Given the description of an element on the screen output the (x, y) to click on. 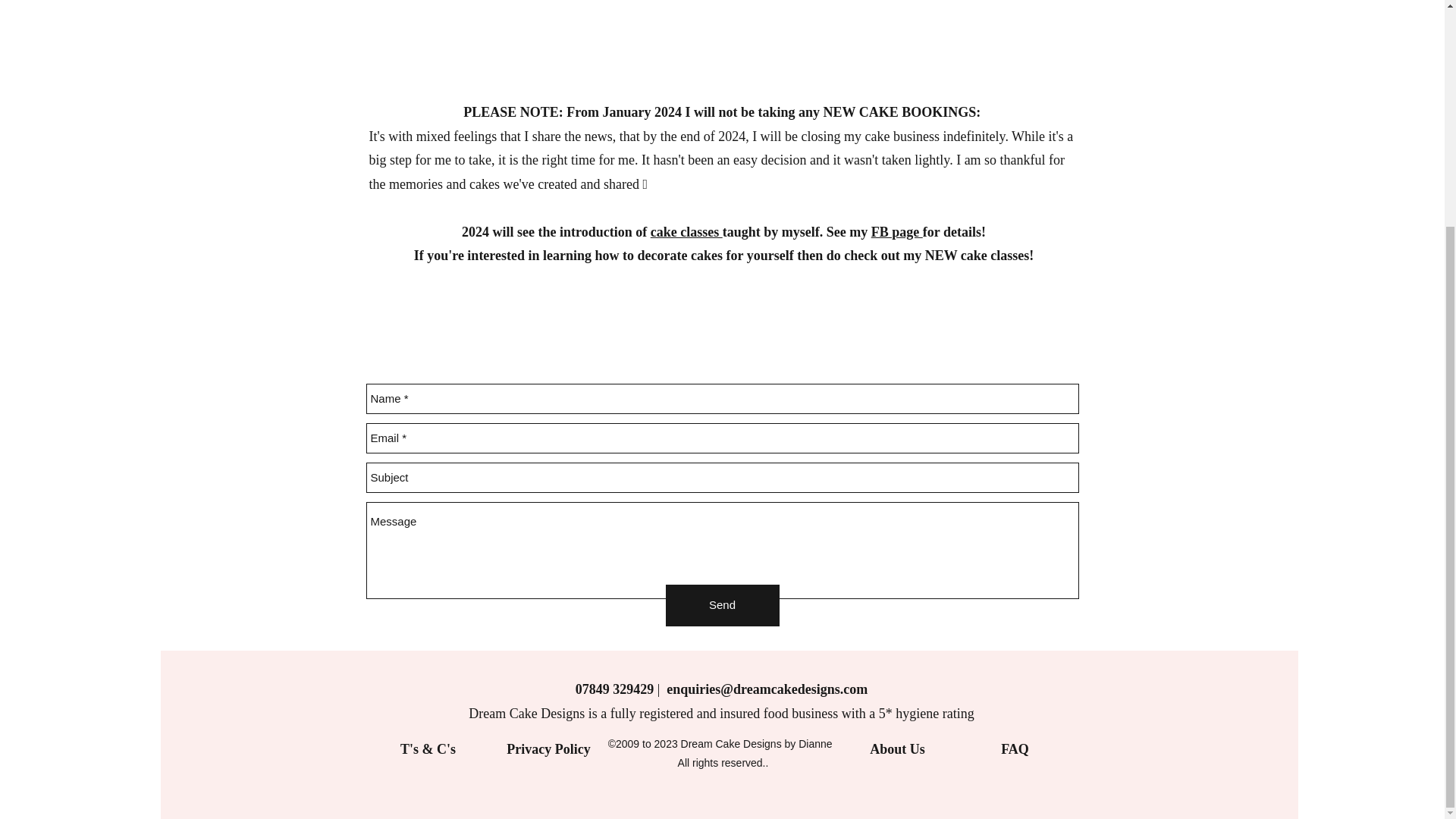
cake classes  (686, 231)
FB page  (896, 231)
FAQ (1014, 749)
Privacy Policy (548, 749)
About Us (896, 749)
07849 329429 (614, 688)
Send (721, 605)
